Given the description of an element on the screen output the (x, y) to click on. 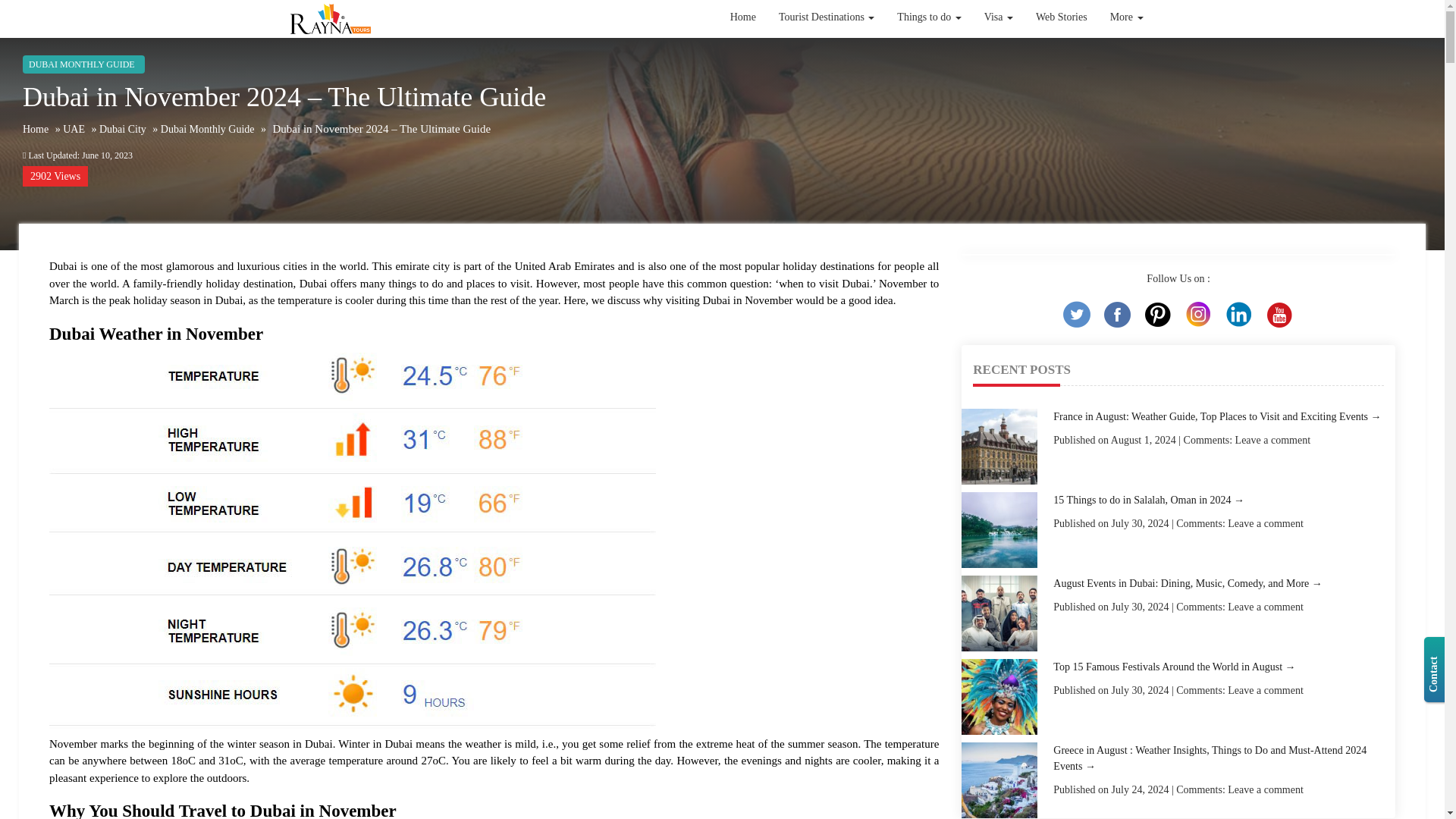
Home (743, 17)
More (1126, 17)
Visa (998, 17)
Things to do (928, 26)
Things to do (928, 17)
Home (743, 51)
Tourist Destinations (826, 50)
Web Stories (1062, 17)
Tourist Destinations (826, 17)
